Given the description of an element on the screen output the (x, y) to click on. 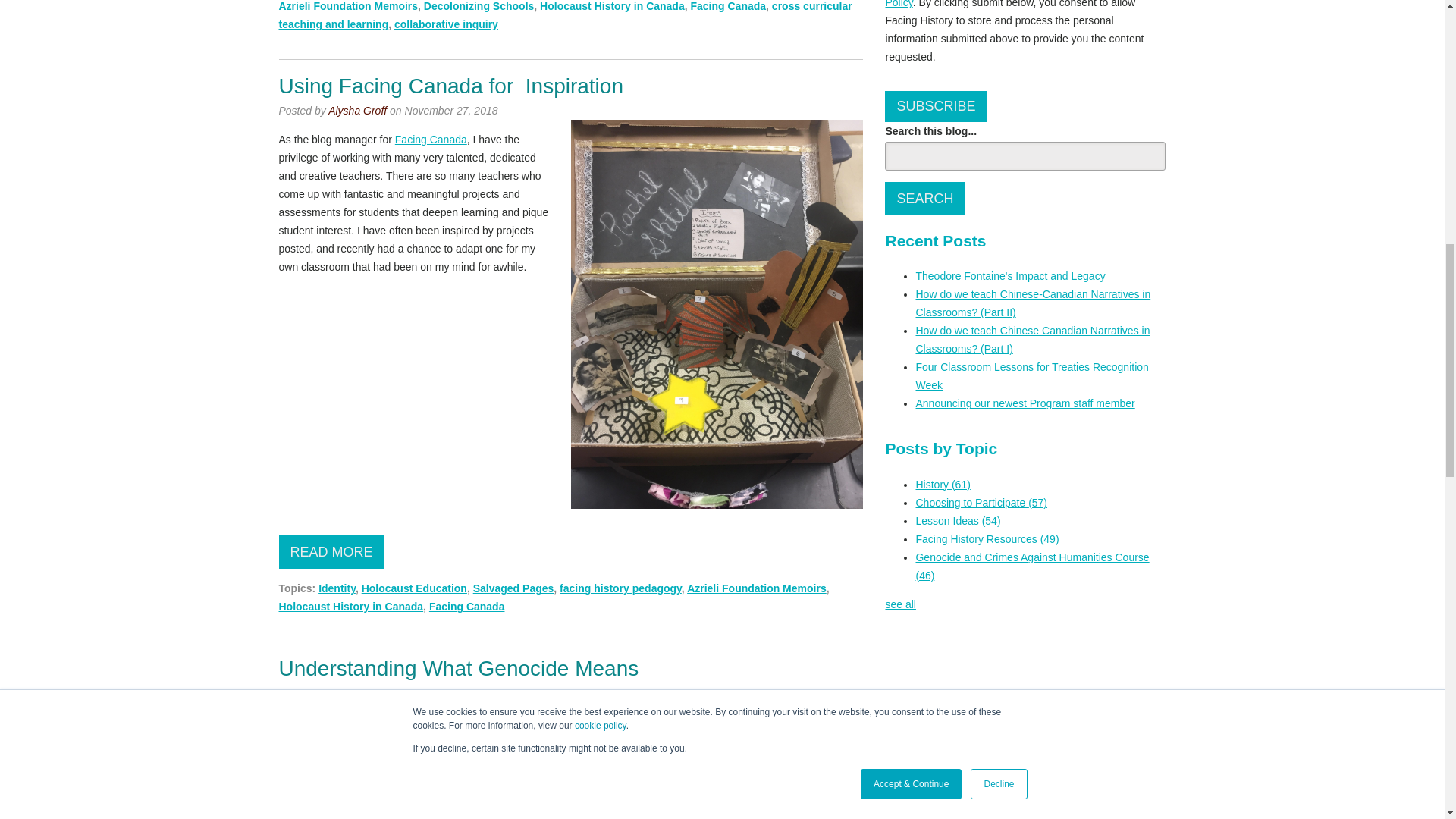
Azrieli Foundation Memoirs (349, 6)
Decolonizing Schools (478, 6)
Holocaust History in Canada (612, 6)
Subscribe (936, 106)
